Given the description of an element on the screen output the (x, y) to click on. 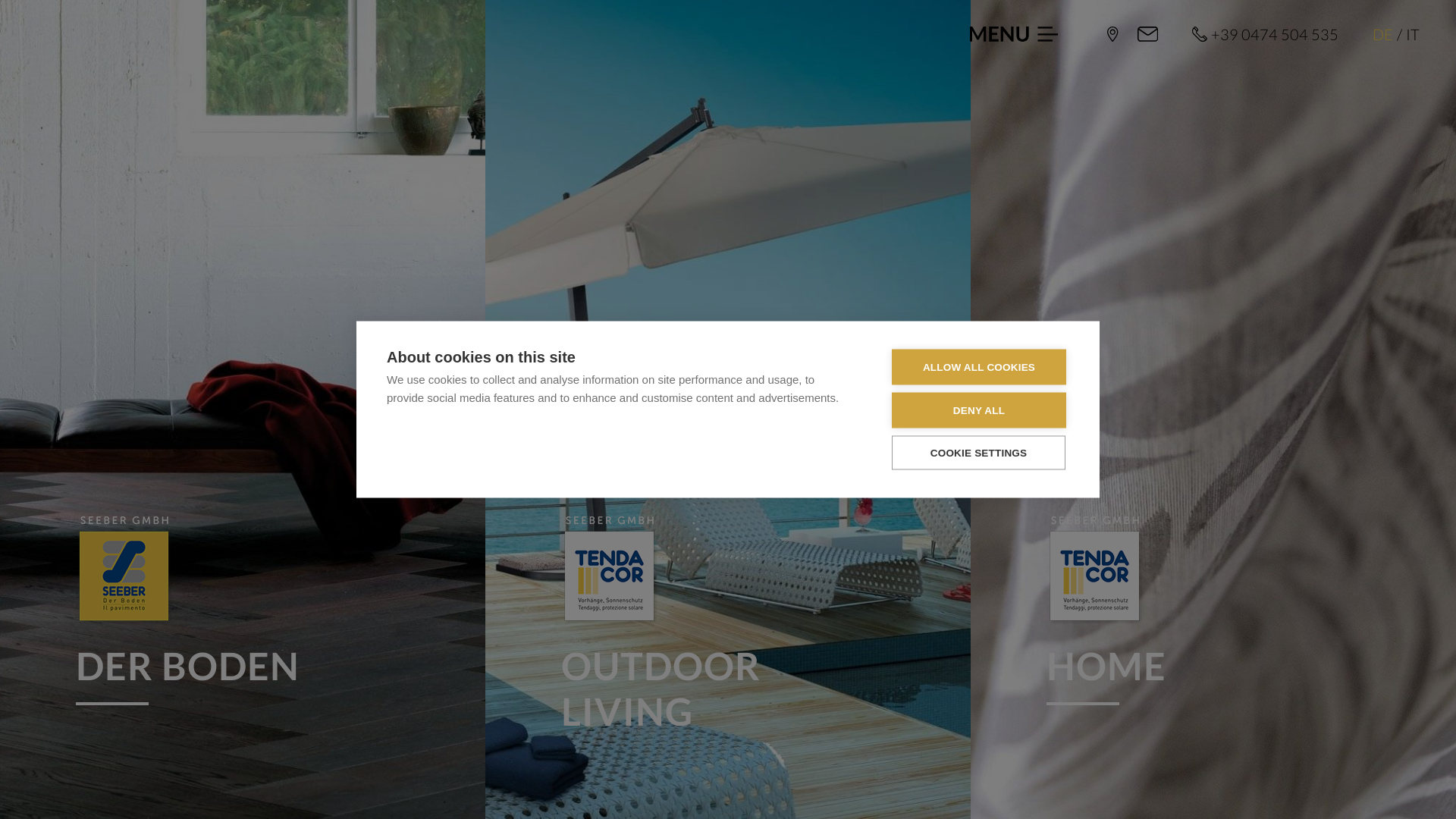
Der Boden Element type: hover (124, 571)
Outdoor Living Element type: hover (610, 571)
Folgen Sie uns auf Element type: text (1349, 765)
IT Element type: text (1412, 34)
Seeber Element type: hover (1112, 33)
info@seeber.bz Element type: hover (1147, 33)
DENY ALL Element type: text (978, 410)
ALLOW ALL COOKIES Element type: text (978, 366)
+39 0474 504 535 Element type: text (1265, 33)
Home Element type: hover (1095, 571)
COOKIE SETTINGS Element type: text (978, 452)
DER BODEN Element type: text (242, 610)
OUTDOOR LIVING Element type: text (727, 633)
HOME Element type: text (1213, 610)
DE Element type: text (1382, 34)
